Given the description of an element on the screen output the (x, y) to click on. 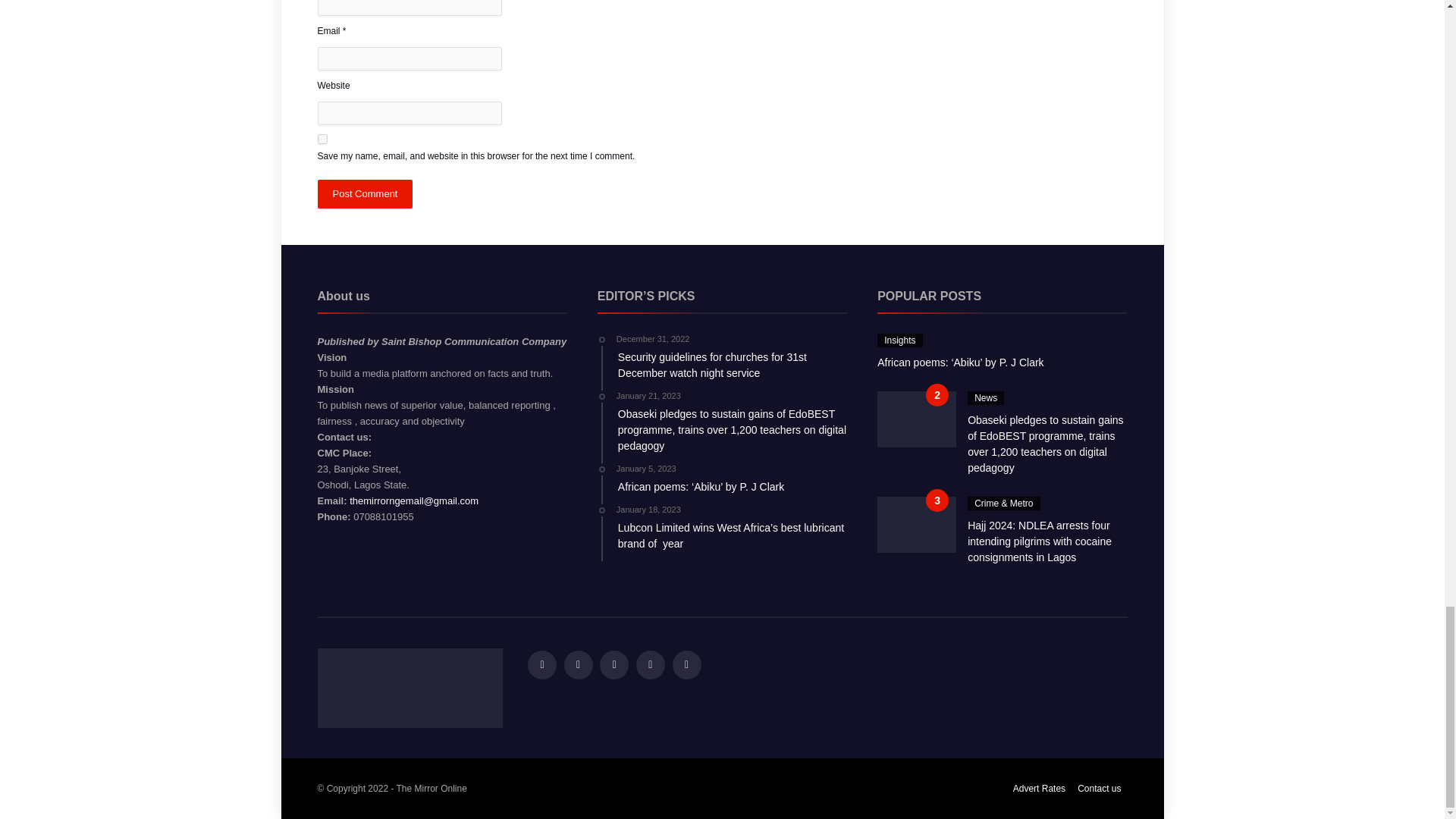
yes (321, 139)
Post Comment (364, 193)
